Given the description of an element on the screen output the (x, y) to click on. 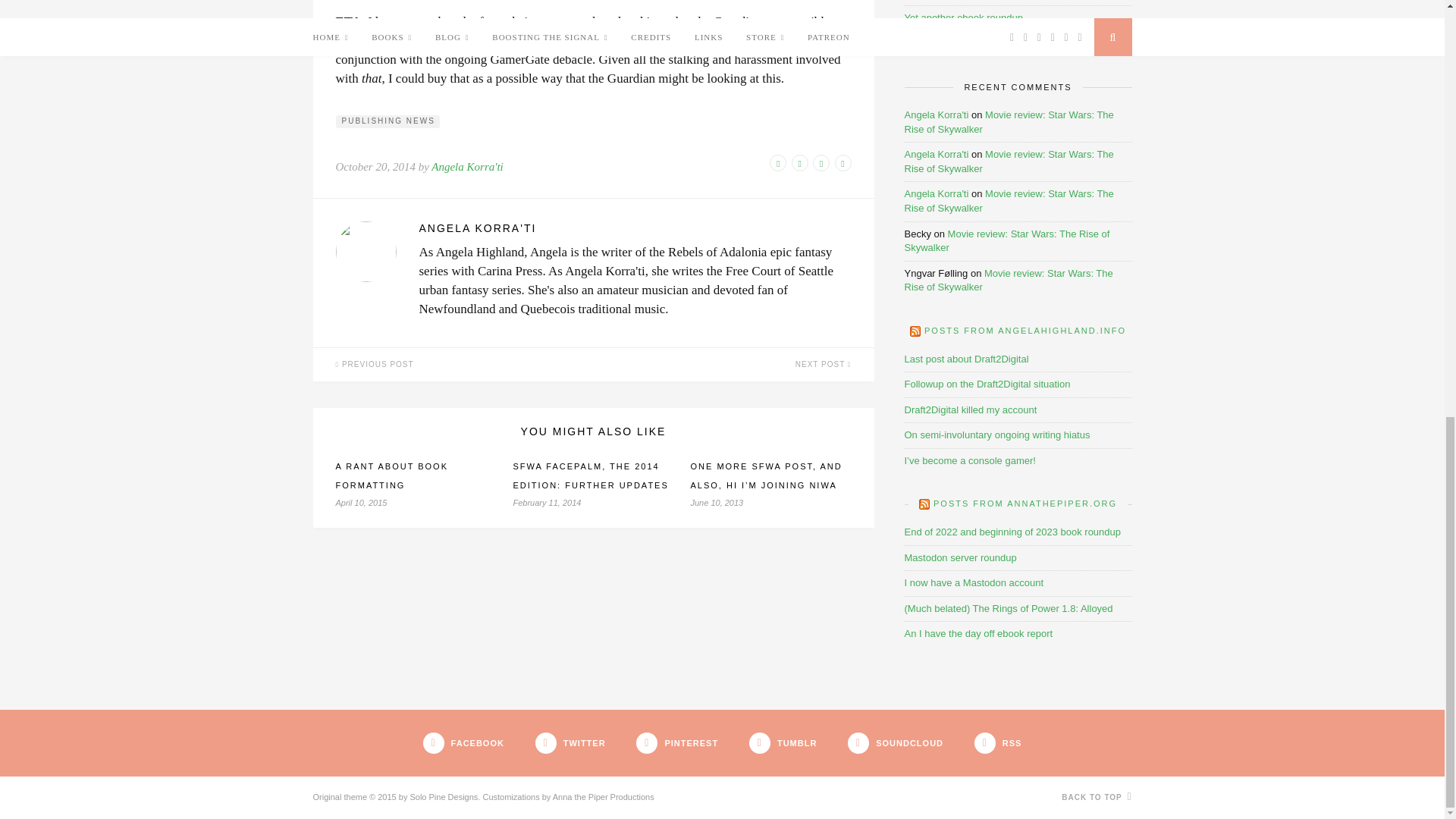
Posts by Angela Korra'ti (466, 166)
Posts by Angela Korra'ti (634, 228)
